Given the description of an element on the screen output the (x, y) to click on. 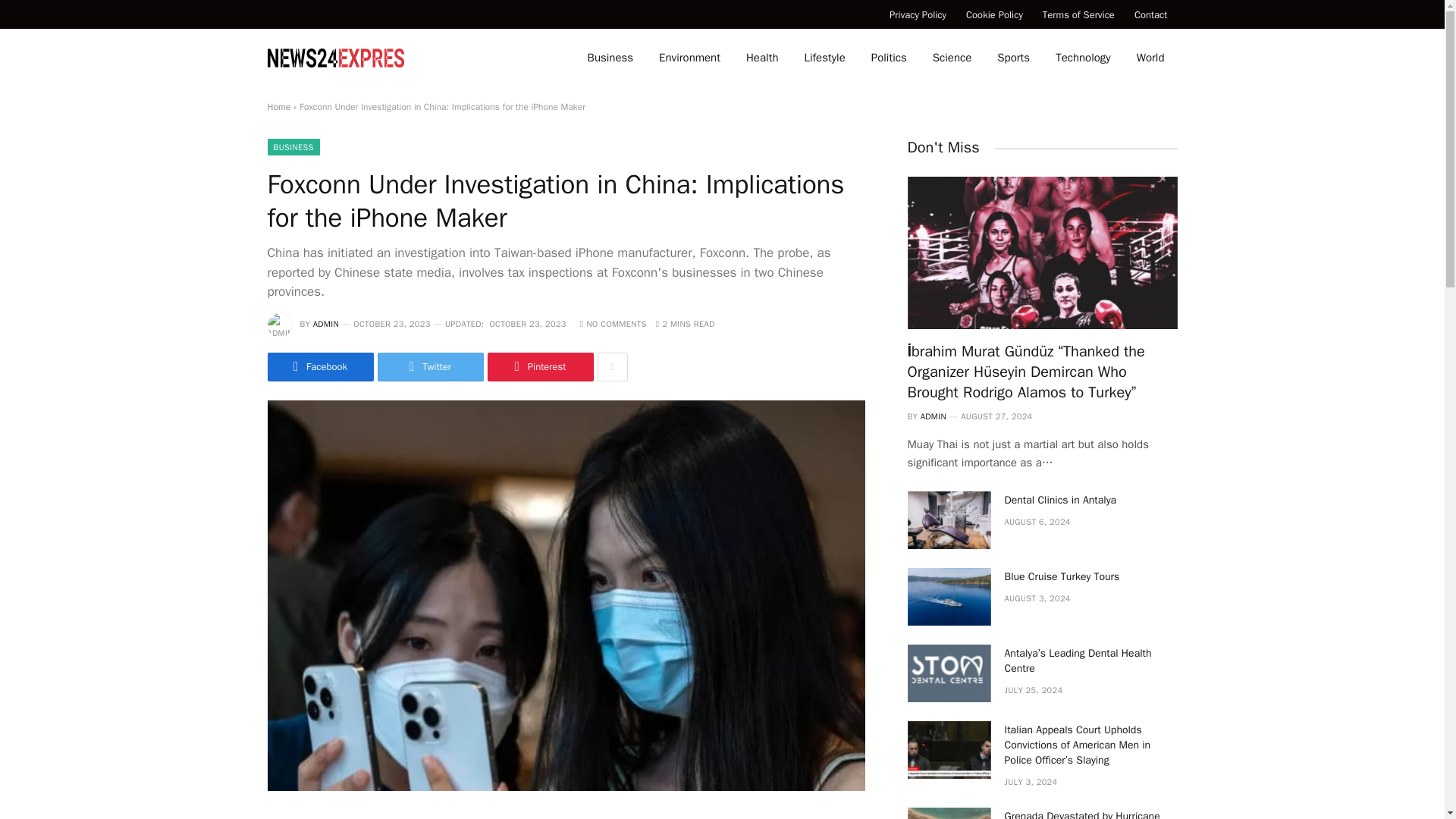
Privacy Policy (917, 14)
World (1150, 57)
Environment (689, 57)
Sports (1013, 57)
Cookie Policy (994, 14)
Contact (1150, 14)
Politics (889, 57)
Technology (1083, 57)
Terms of Service (1078, 14)
Science (952, 57)
